Given the description of an element on the screen output the (x, y) to click on. 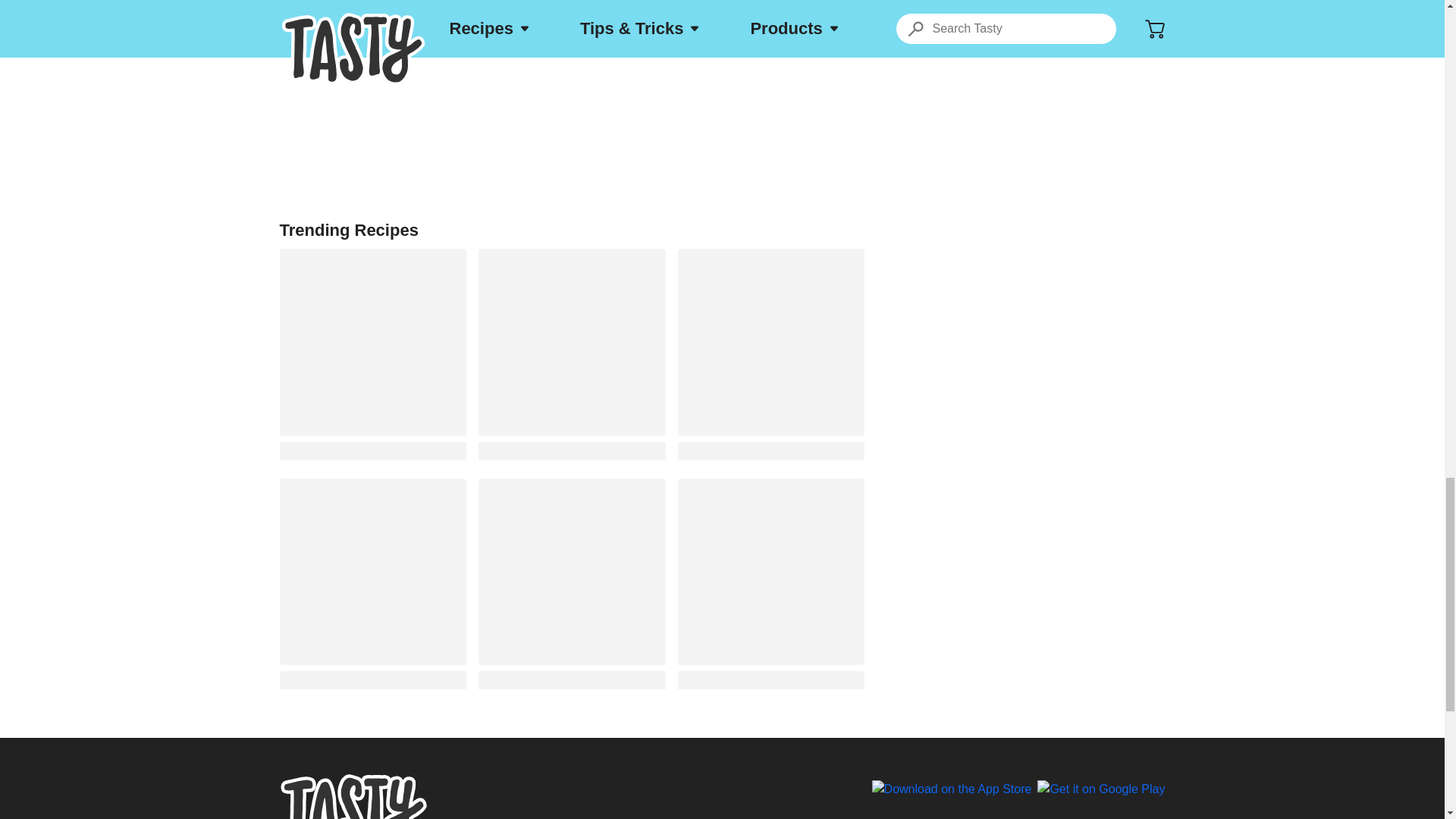
Tasty Logo footer (353, 796)
